Given the description of an element on the screen output the (x, y) to click on. 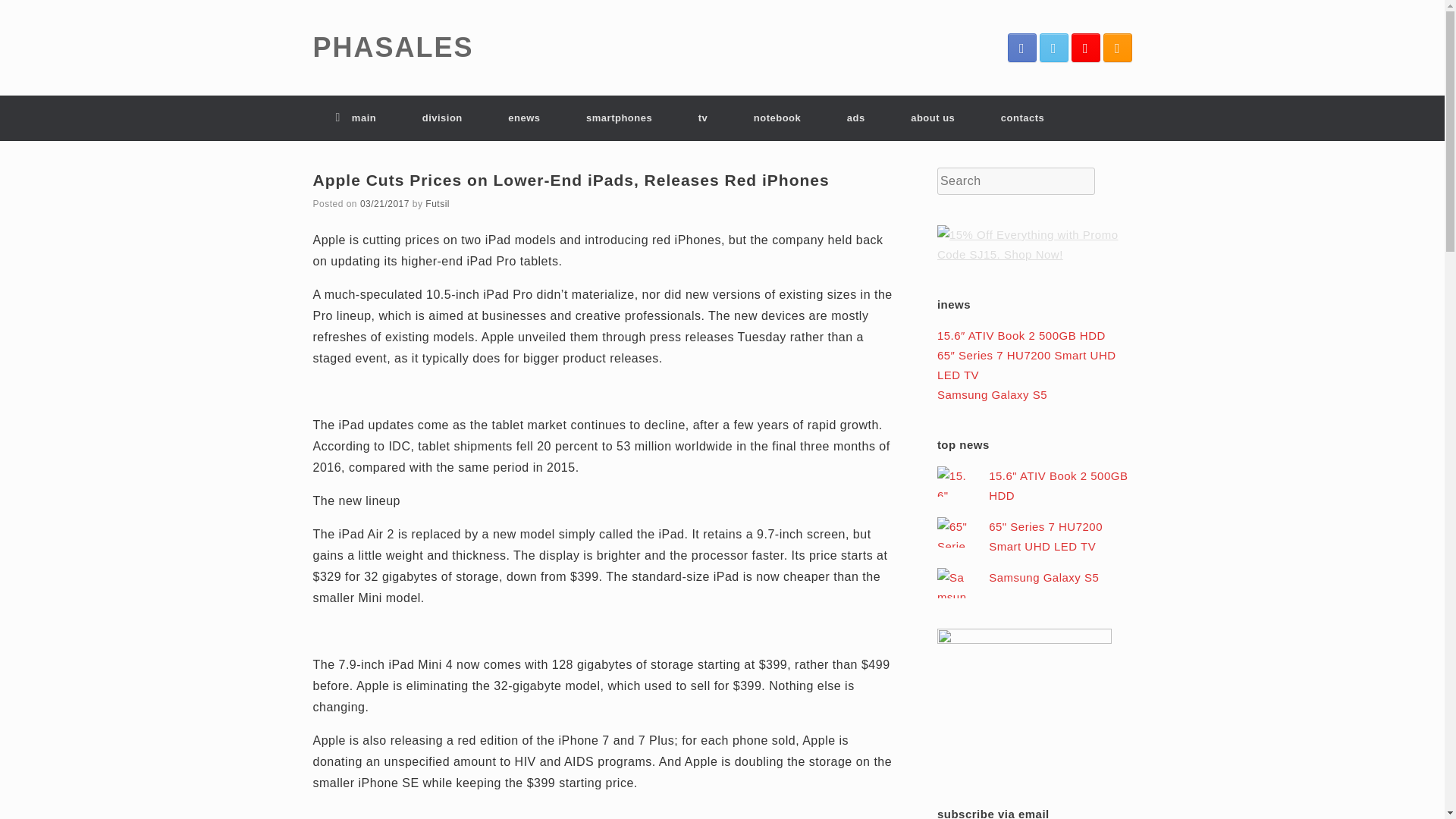
ads (856, 117)
View all posts by Futsil (437, 204)
tv (702, 117)
division (441, 117)
main (355, 117)
PHASALES Twitter (1053, 47)
PHASALES (393, 47)
Samsung Galaxy S5 (991, 394)
notebook (777, 117)
PHASALES Google Plus (1084, 47)
about us (932, 117)
contacts (1022, 117)
PHASALES Facebook (1021, 47)
Futsil (437, 204)
